Given the description of an element on the screen output the (x, y) to click on. 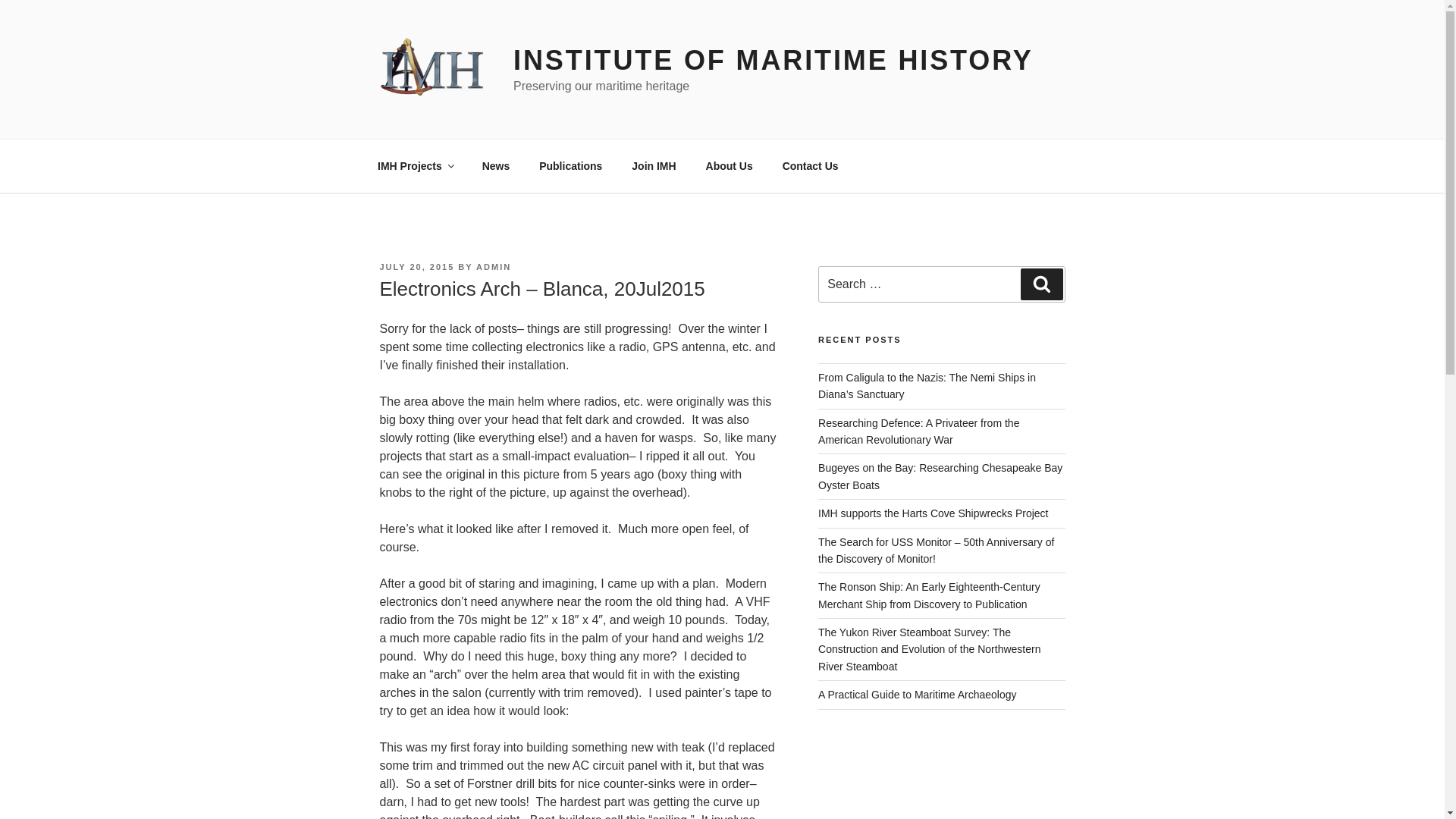
About Us (729, 165)
ADMIN (493, 266)
A Practical Guide to Maritime Archaeology (917, 694)
Bugeyes on the Bay: Researching Chesapeake Bay Oyster Boats (940, 475)
Publications (570, 165)
Search (1041, 284)
Contact Us (809, 165)
